Given the description of an element on the screen output the (x, y) to click on. 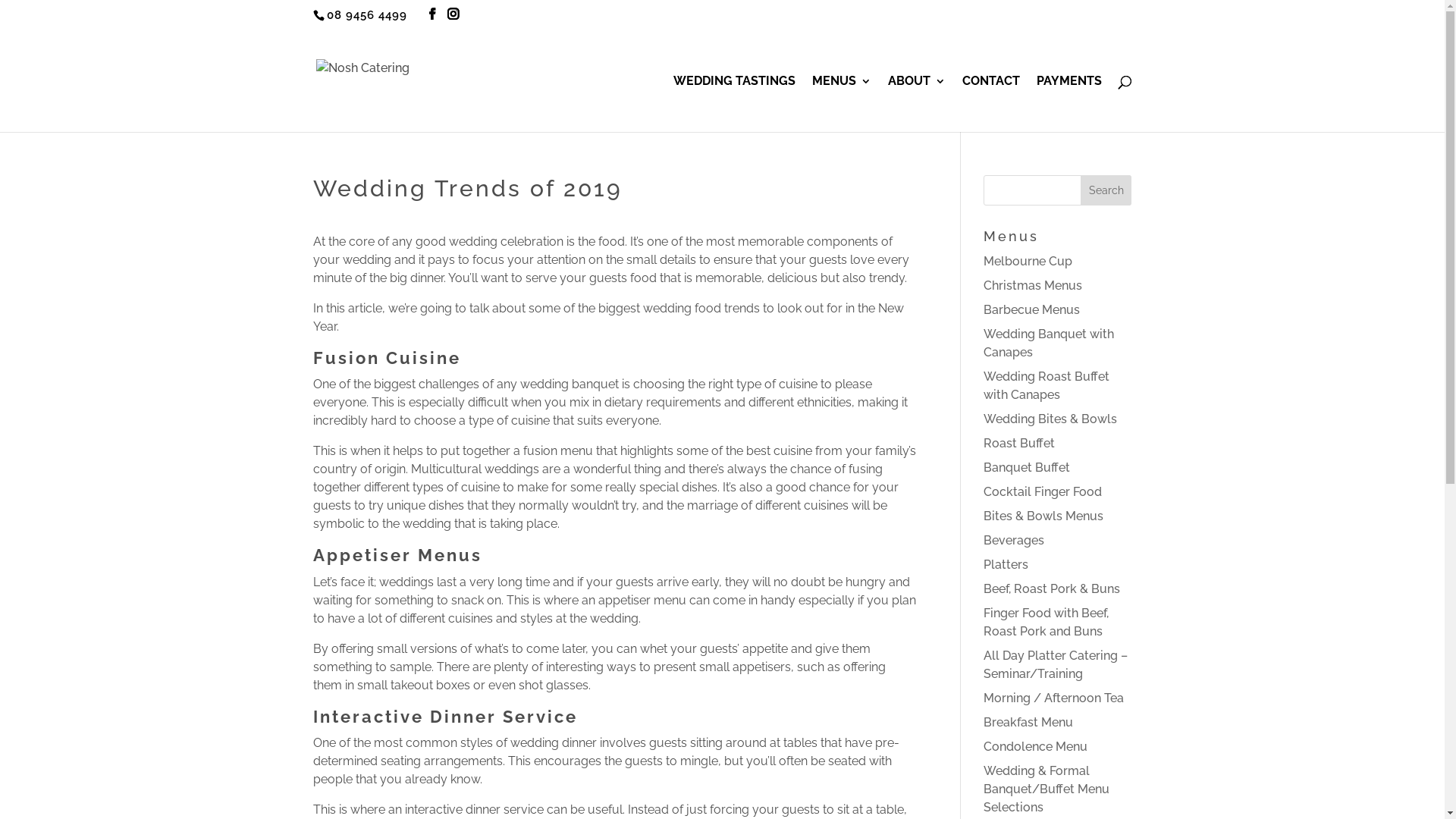
Wedding Bites & Bowls Element type: text (1050, 418)
WEDDING TASTINGS Element type: text (734, 103)
wedding Element type: text (533, 742)
Melbourne Cup Element type: text (1027, 261)
PAYMENTS Element type: text (1068, 103)
Beef, Roast Pork & Buns Element type: text (1051, 588)
Finger Food with Beef, Roast Pork and Buns Element type: text (1045, 621)
Barbecue Menus Element type: text (1031, 309)
Beverages Element type: text (1013, 540)
Platters Element type: text (1005, 564)
Banquet Buffet Element type: text (1026, 467)
Roast Buffet Element type: text (1018, 443)
Bites & Bowls Menus Element type: text (1043, 515)
Christmas Menus Element type: text (1032, 285)
Cocktail Finger Food Element type: text (1042, 491)
CONTACT Element type: text (990, 103)
Condolence Menu Element type: text (1035, 746)
MENUS Element type: text (840, 103)
Wedding Roast Buffet with Canapes Element type: text (1046, 385)
Wedding & Formal Banquet/Buffet Menu Selections Element type: text (1046, 788)
Wedding Banquet with Canapes Element type: text (1048, 342)
ABOUT Element type: text (915, 103)
Search Element type: text (1106, 190)
Morning / Afternoon Tea Element type: text (1053, 697)
Breakfast Menu Element type: text (1028, 722)
